Given the description of an element on the screen output the (x, y) to click on. 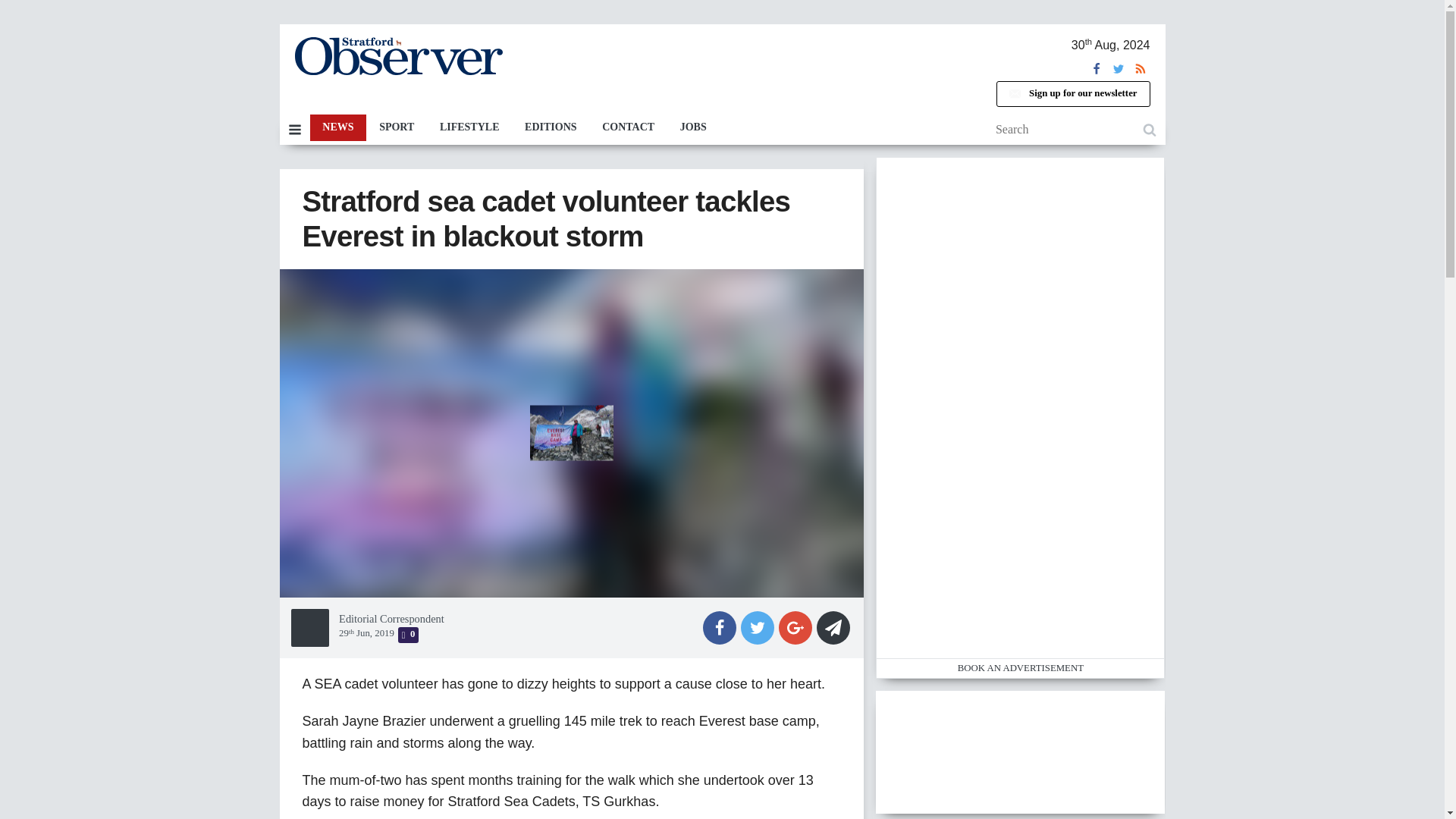
NEWS (337, 127)
  Sign up for our newsletter (1072, 94)
The Stratford Observer (398, 55)
CONTACT (627, 127)
EDITIONS (550, 127)
Editorial Correspondent (391, 618)
JOBS (692, 127)
SPORT (396, 127)
LIFESTYLE (469, 127)
